Given the description of an element on the screen output the (x, y) to click on. 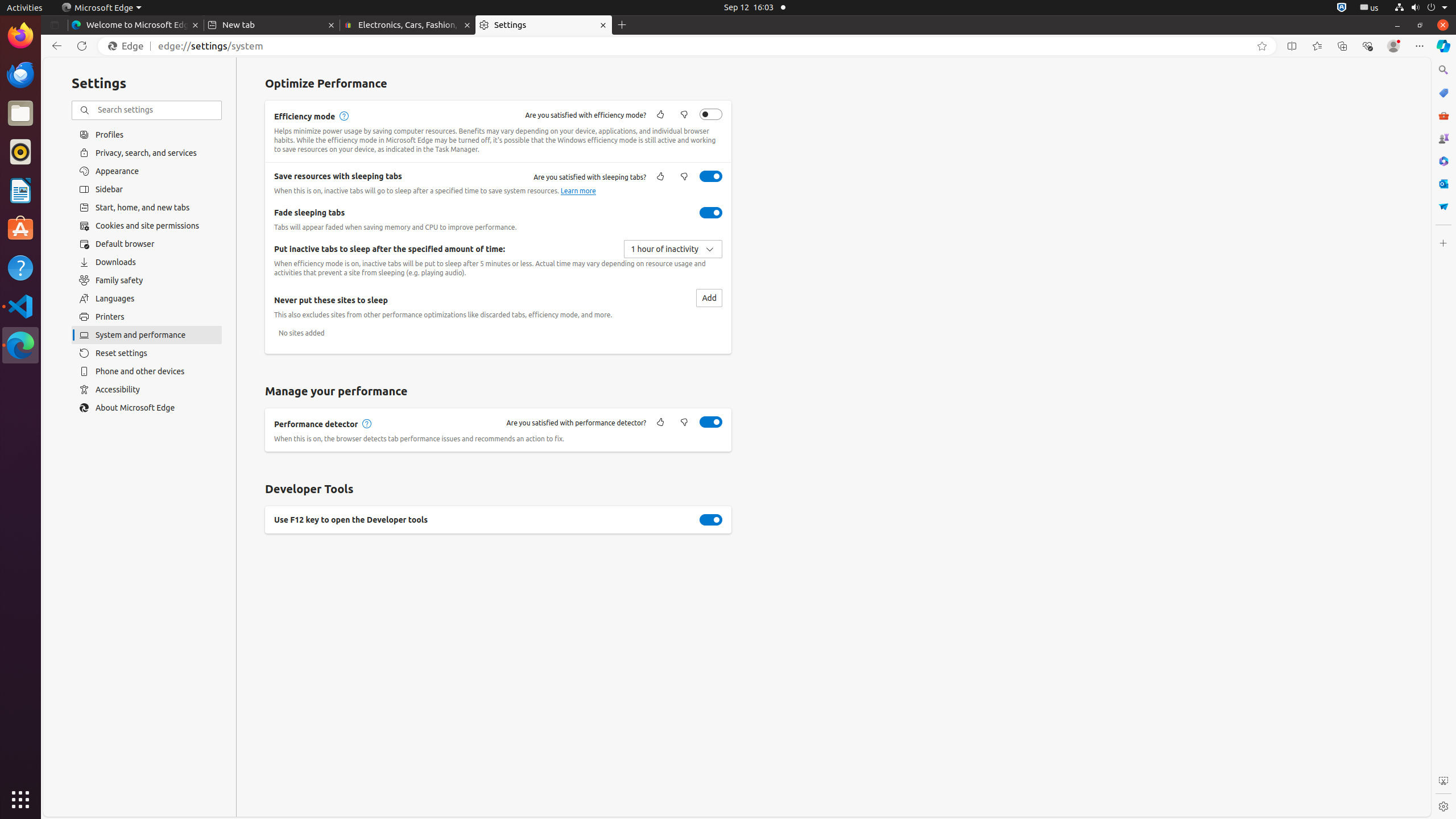
Profiles Element type: tree-item (146, 134)
Add this page to favorites (Ctrl+D) Element type: push-button (1261, 46)
Add site to never put these sites to sleep list Element type: push-button (709, 297)
Games Element type: push-button (1443, 137)
Edge Element type: push-button (128, 46)
